Given the description of an element on the screen output the (x, y) to click on. 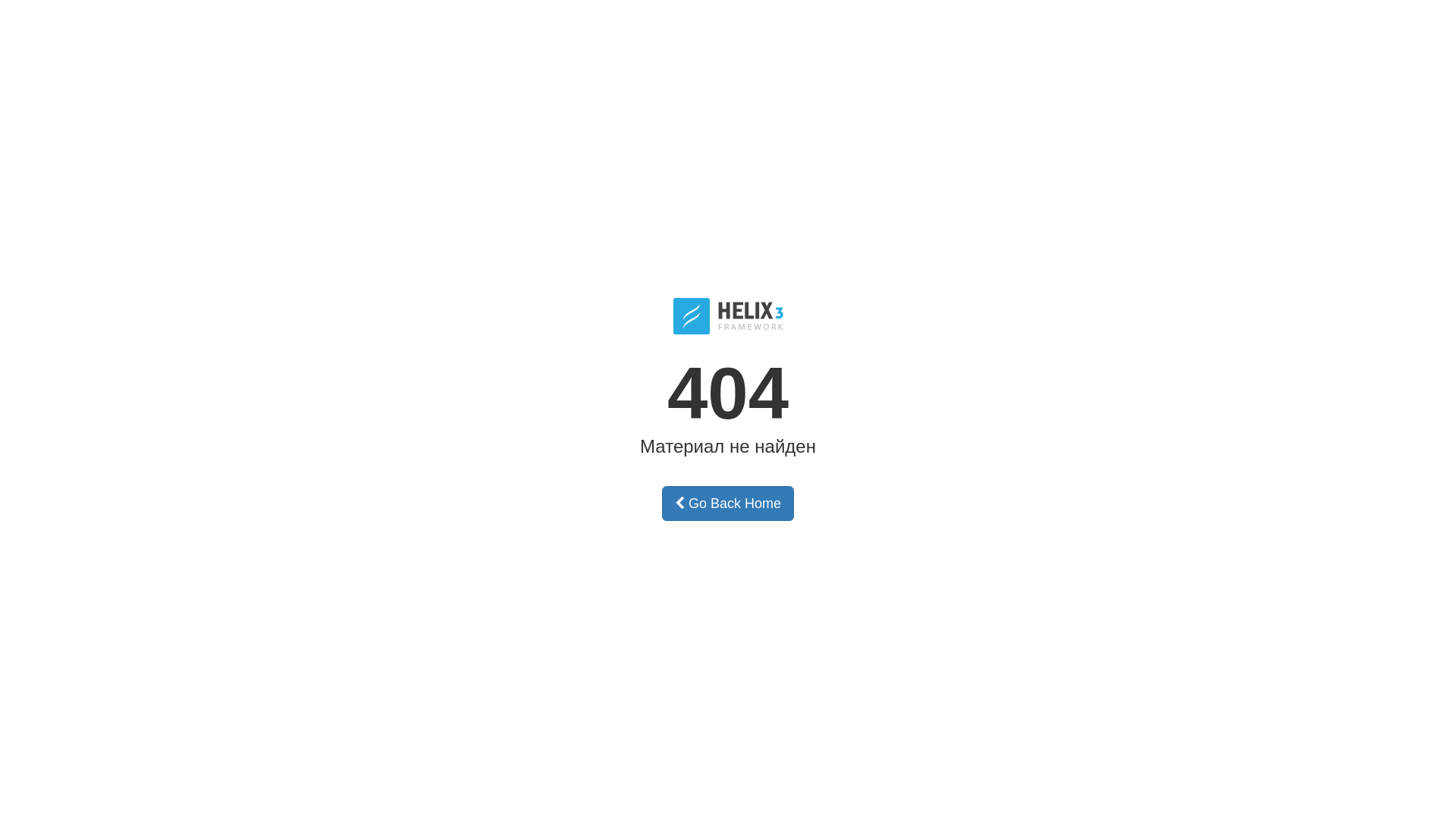
Go Back Home Element type: text (727, 503)
